Given the description of an element on the screen output the (x, y) to click on. 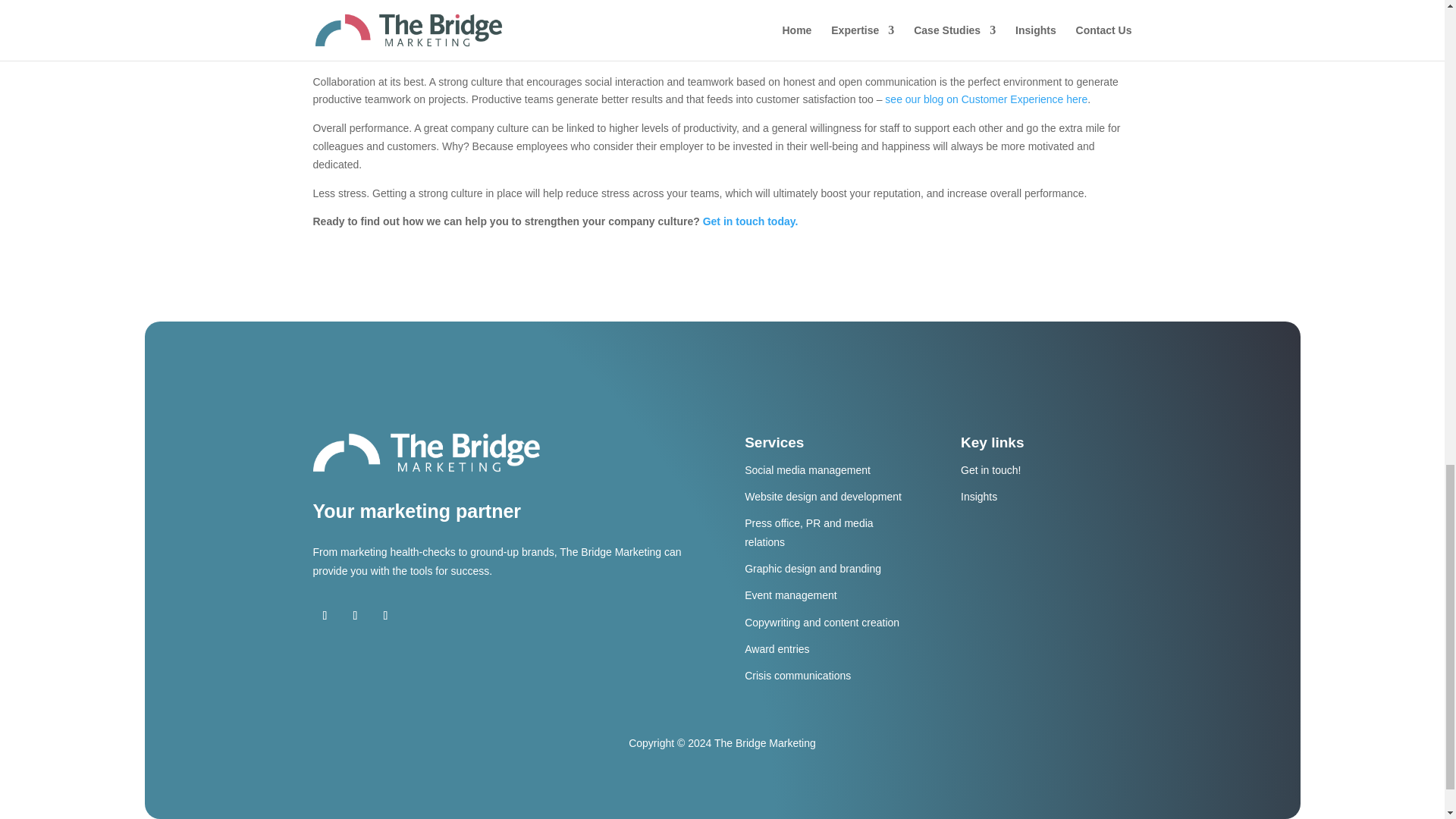
tbm white (426, 453)
Follow on Instagram (384, 615)
Follow on Facebook (324, 615)
Get in touch today. (750, 221)
see our blog on Customer Experience here (986, 99)
Follow on X (354, 615)
